Given the description of an element on the screen output the (x, y) to click on. 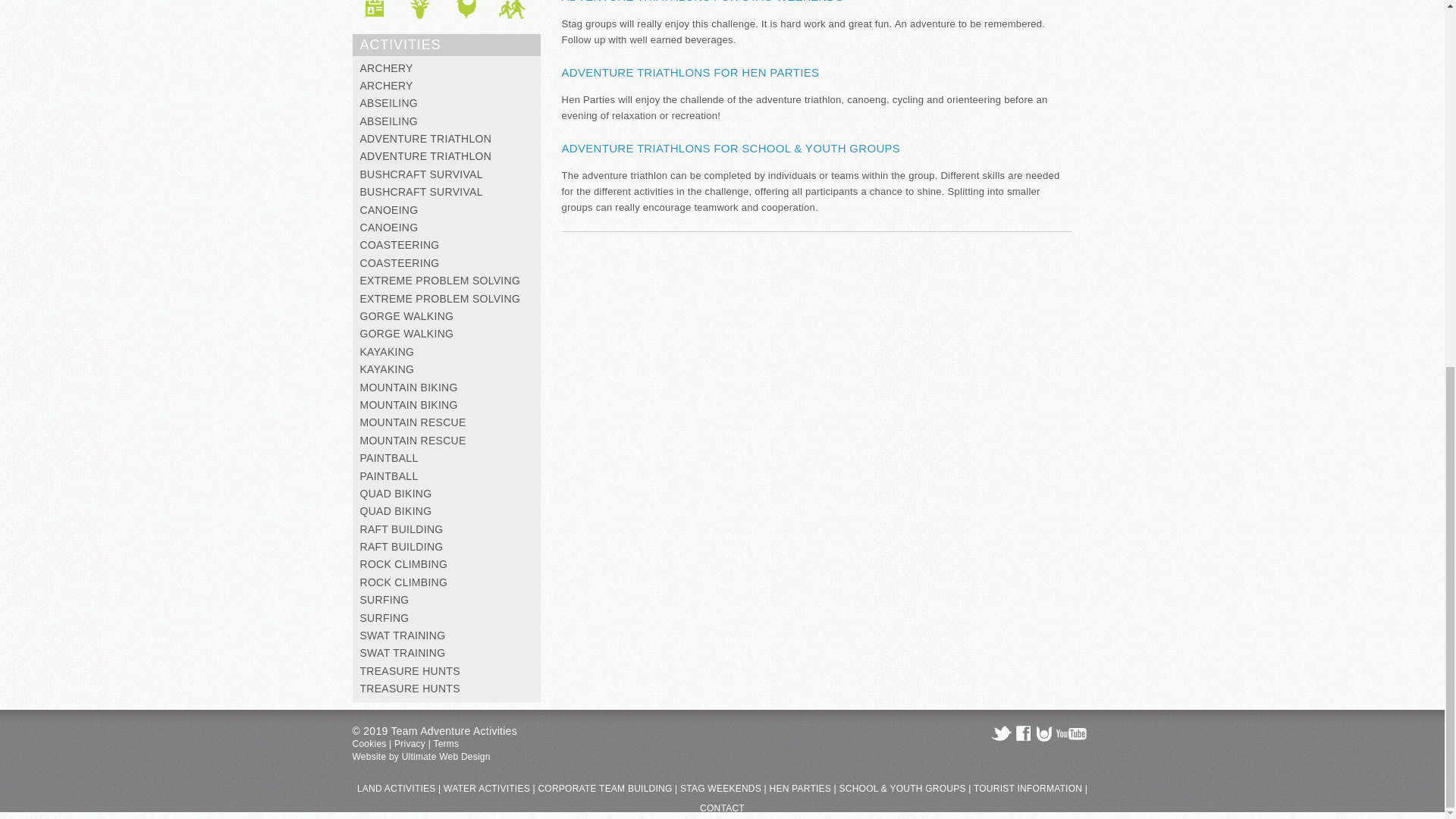
BUSHCRAFT SURVIVAL (420, 174)
PAINTBALL (388, 458)
MOUNTAIN RESCUE (412, 422)
KAYAKING (386, 369)
SWAT TRAINING (402, 635)
Ultimate YouTube Channel (1070, 733)
ABSEILING (387, 121)
SURFING (384, 617)
RAFT BUILDING (400, 529)
QUAD BIKING (394, 493)
COASTEERING (399, 263)
MOUNTAIN BIKING (408, 404)
ABSEILING (387, 102)
EXTREME PROBLEM SOLVING (439, 280)
EXTREME PROBLEM SOLVING (439, 298)
